Given the description of an element on the screen output the (x, y) to click on. 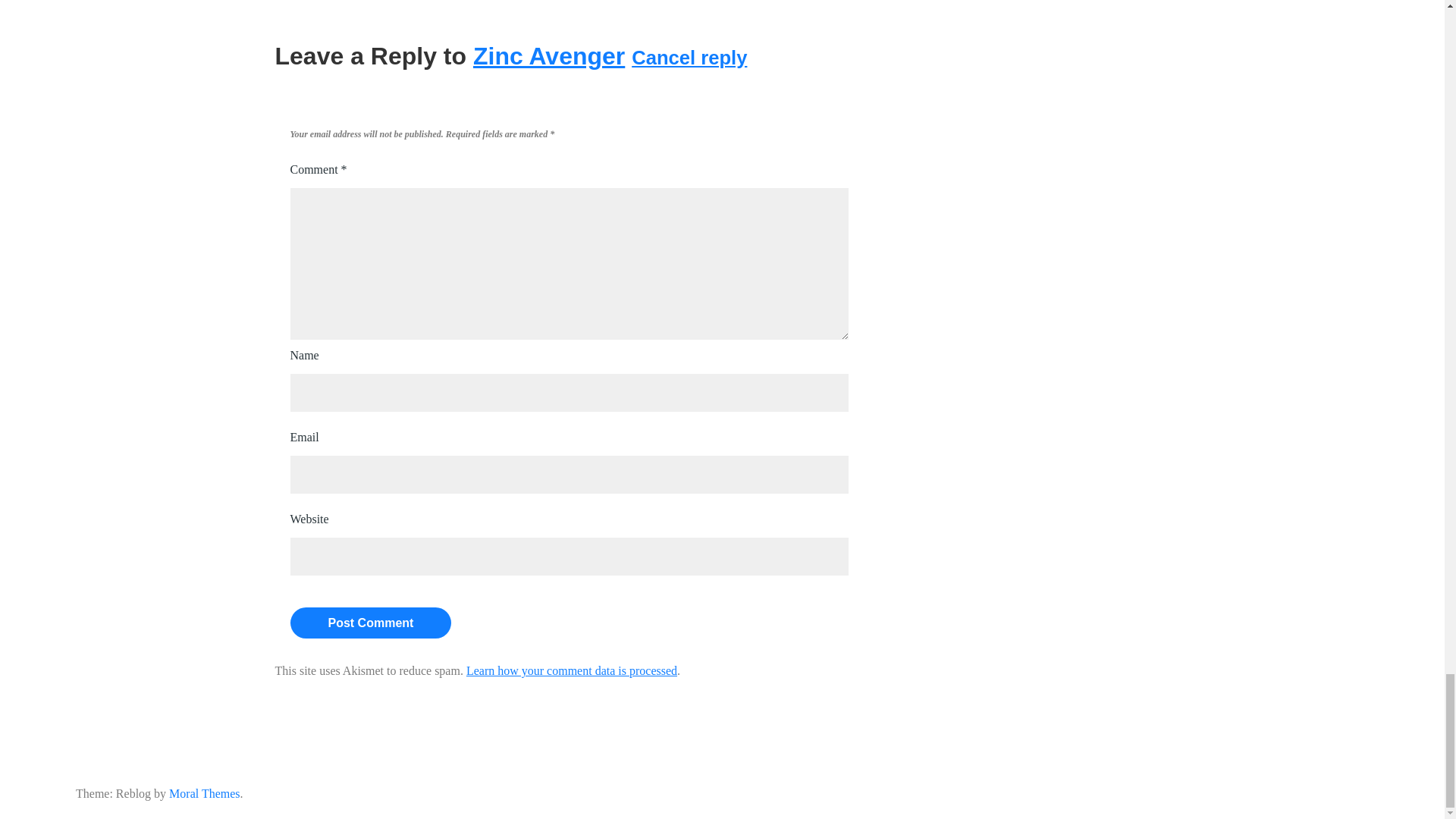
Post Comment (370, 622)
